Given the description of an element on the screen output the (x, y) to click on. 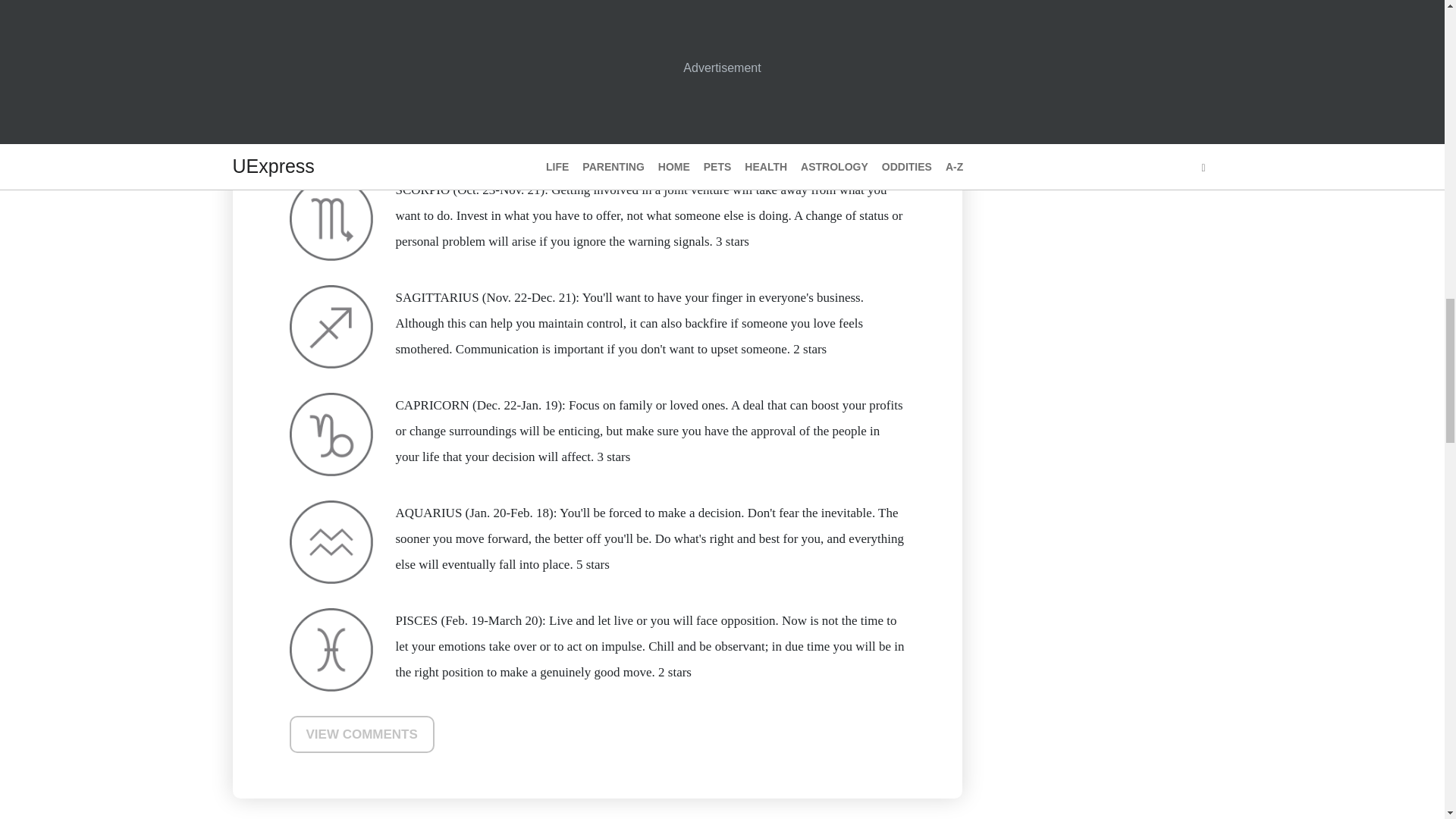
VIEW COMMENTS (361, 734)
